Given the description of an element on the screen output the (x, y) to click on. 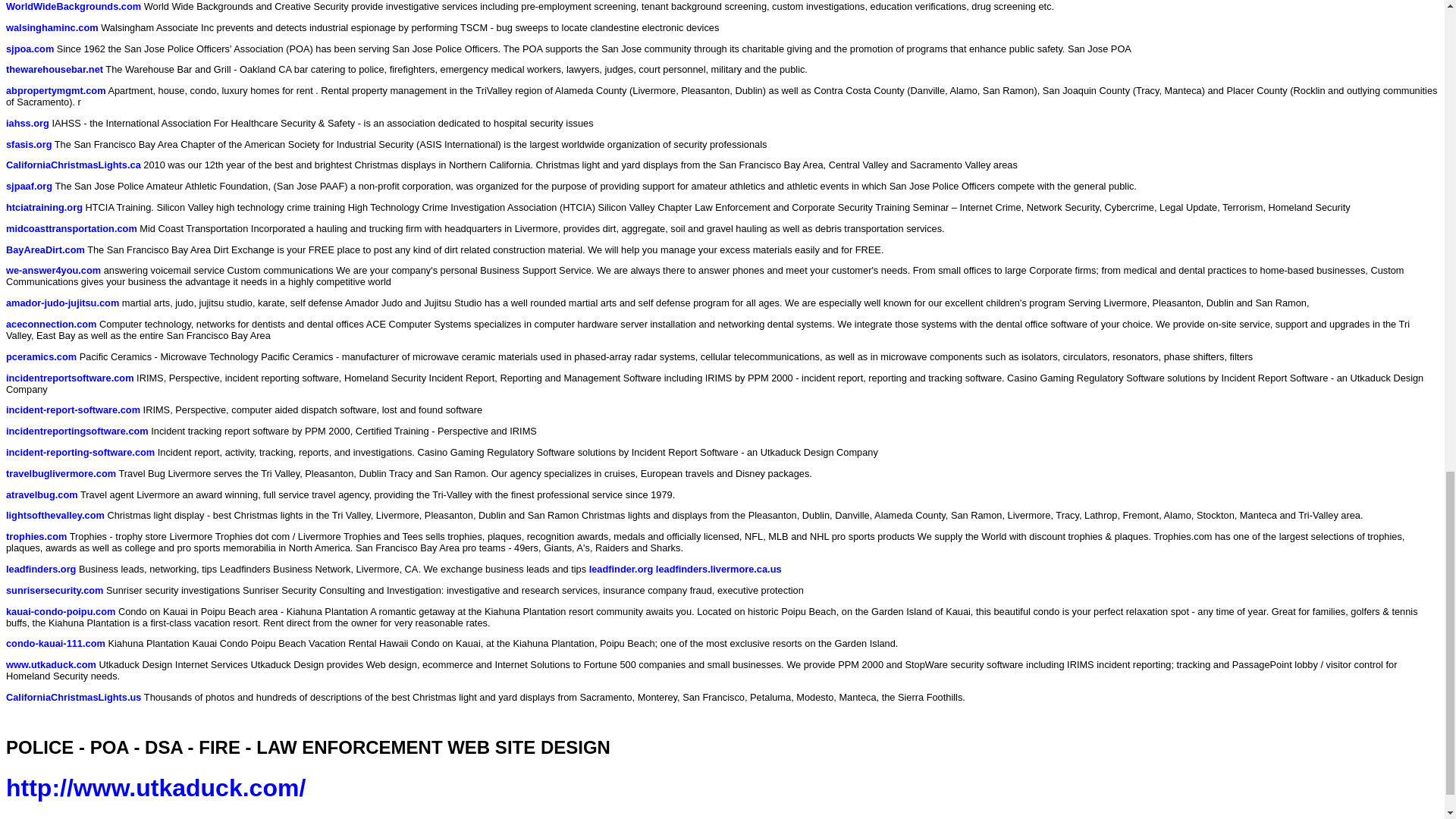
thewarehousebar.net (54, 69)
CaliforniaChristmasLights.us (73, 696)
sjpoa.com (29, 48)
CaliforniaChristmasLights.ca (73, 164)
midcoasttransportation.com (70, 228)
walsinghaminc.com (52, 27)
BayAreaDirt.com (44, 249)
sjpaaf.org (28, 185)
iahss.org (27, 122)
WorldWideBackgrounds.com (73, 6)
